Given the description of an element on the screen output the (x, y) to click on. 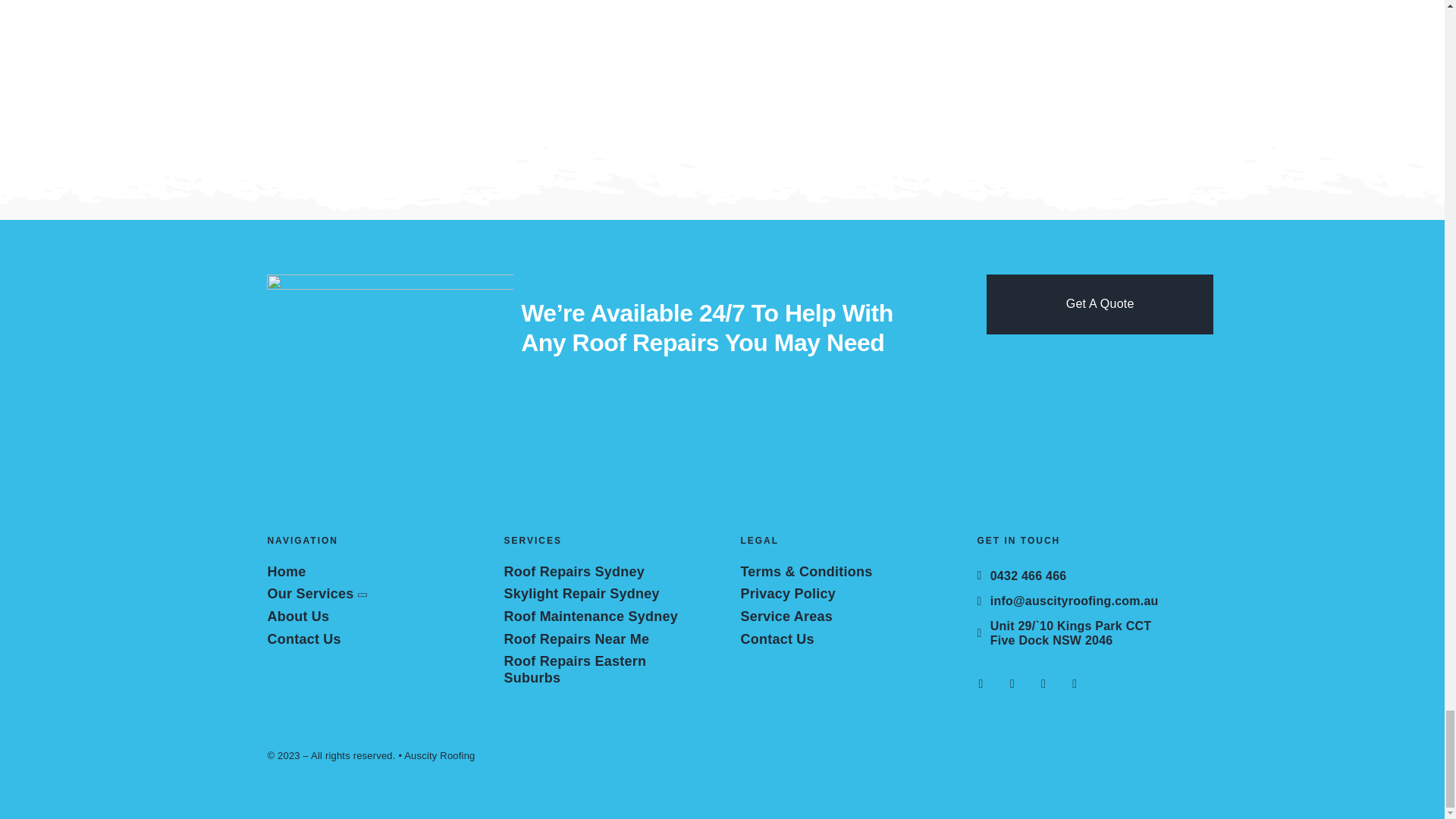
logo (389, 397)
